Given the description of an element on the screen output the (x, y) to click on. 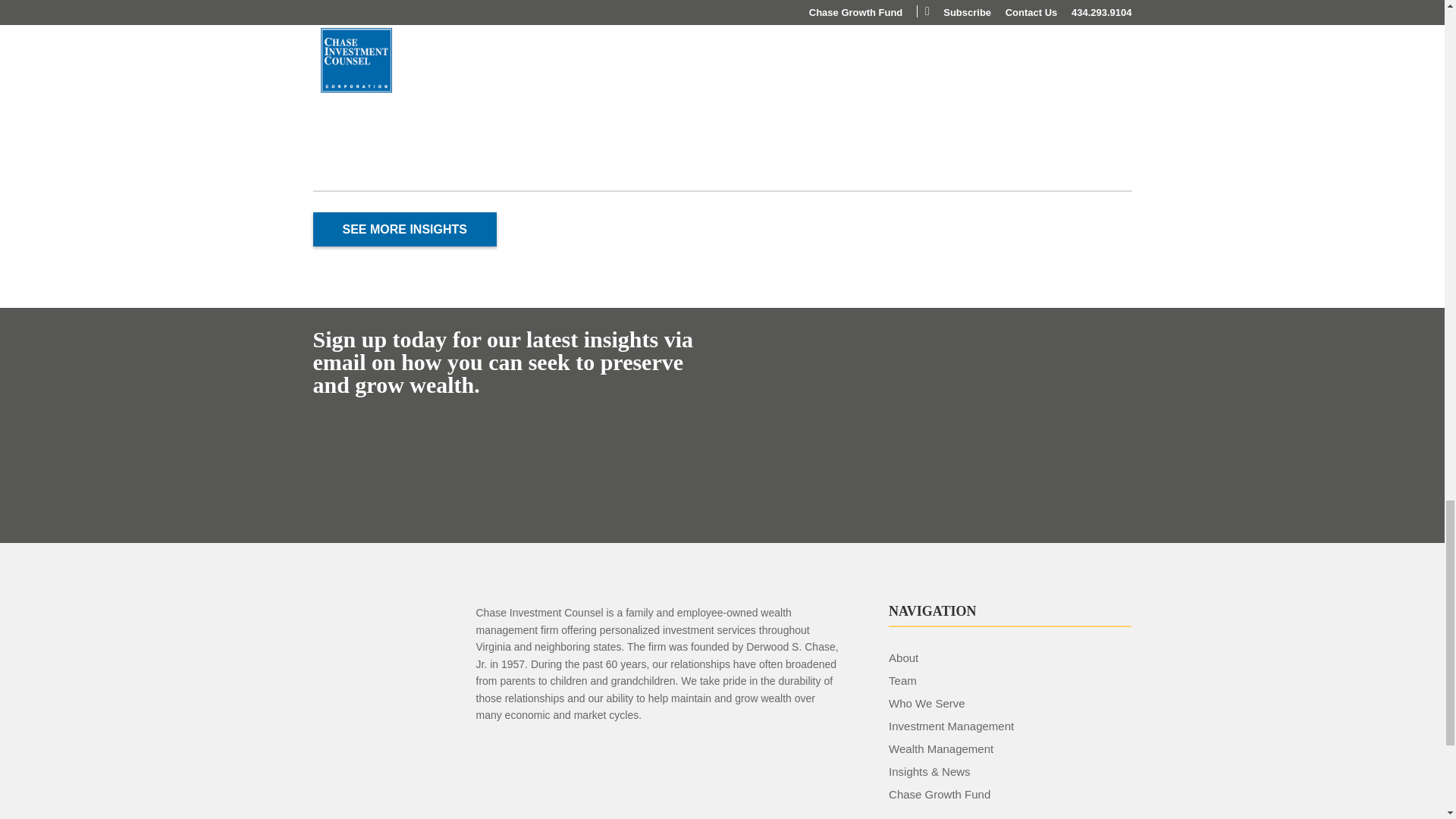
Who We Serve (926, 703)
Wealth Management (940, 748)
Chase Growth Fund (939, 793)
Form 0 (937, 425)
About (903, 657)
SEE MORE INSIGHTS (404, 229)
Team (902, 680)
Investment Management (950, 725)
